Given the description of an element on the screen output the (x, y) to click on. 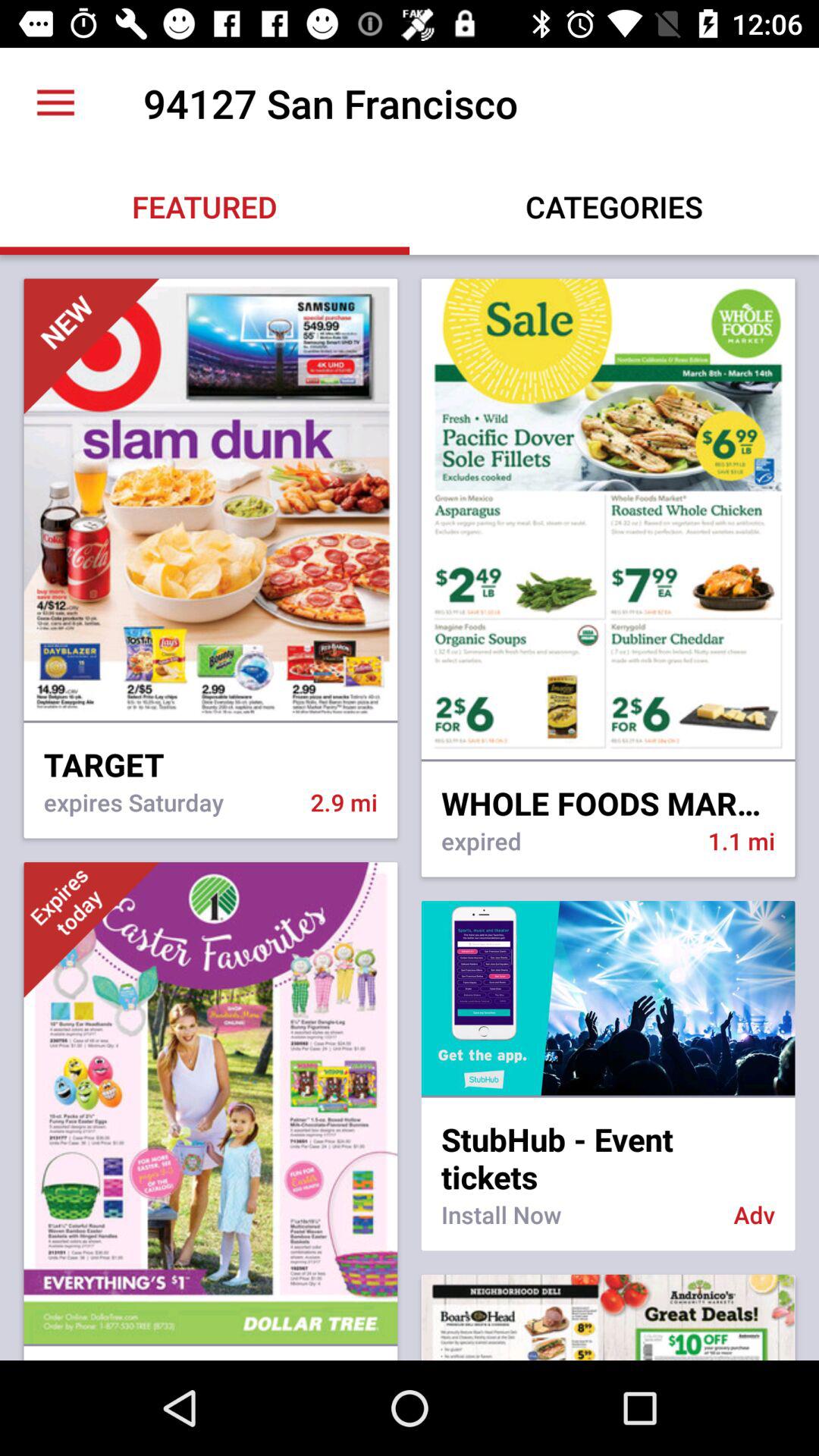
turn off stubhub - event tickets item (608, 1147)
